Given the description of an element on the screen output the (x, y) to click on. 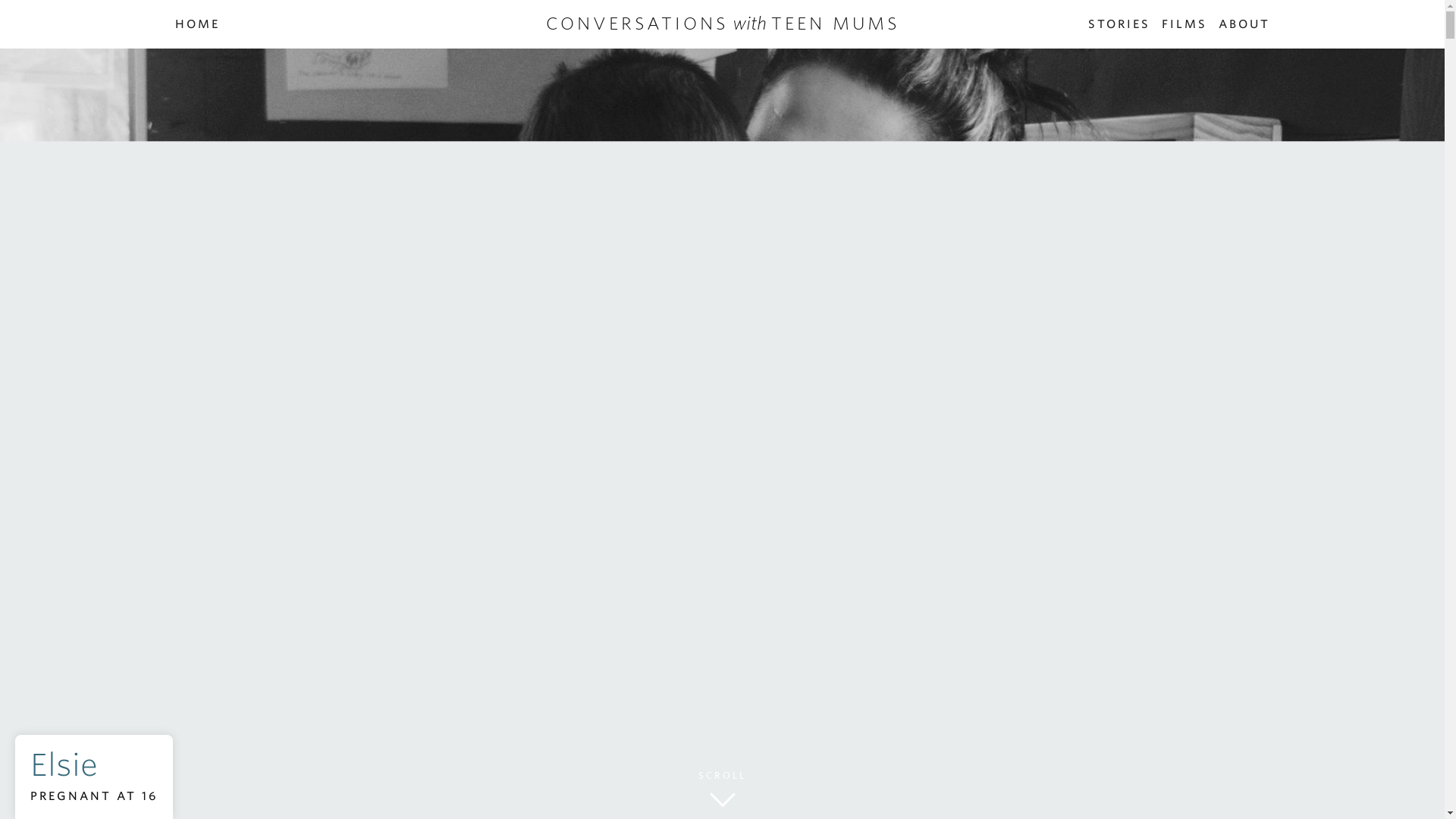
CONVERSATIONS with TEEN MUMS (722, 23)
SCROLL (722, 775)
ABOUT (1243, 25)
STORIES (1118, 25)
SCROLL (722, 800)
FILMS (1184, 25)
HOME (196, 26)
